Given the description of an element on the screen output the (x, y) to click on. 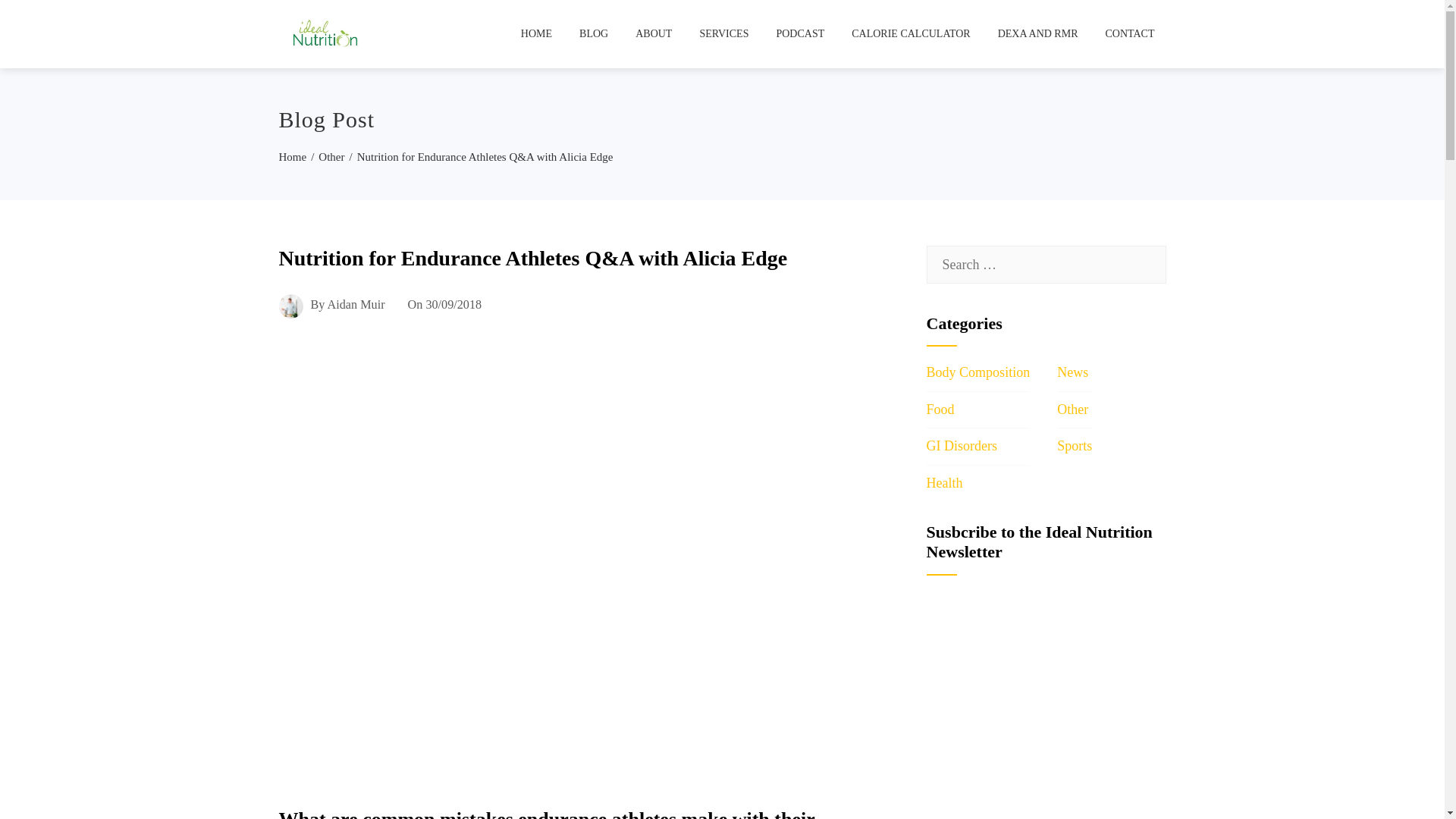
Home (293, 156)
Food (940, 409)
ABOUT (653, 33)
Search (37, 18)
GI Disorders (961, 445)
CALORIE CALCULATOR (910, 33)
Body Composition (978, 372)
DEXA AND RMR (1038, 33)
HOME (536, 33)
CONTACT (1129, 33)
Other (330, 156)
BLOG (593, 33)
PODCAST (799, 33)
SERVICES (723, 33)
